Given the description of an element on the screen output the (x, y) to click on. 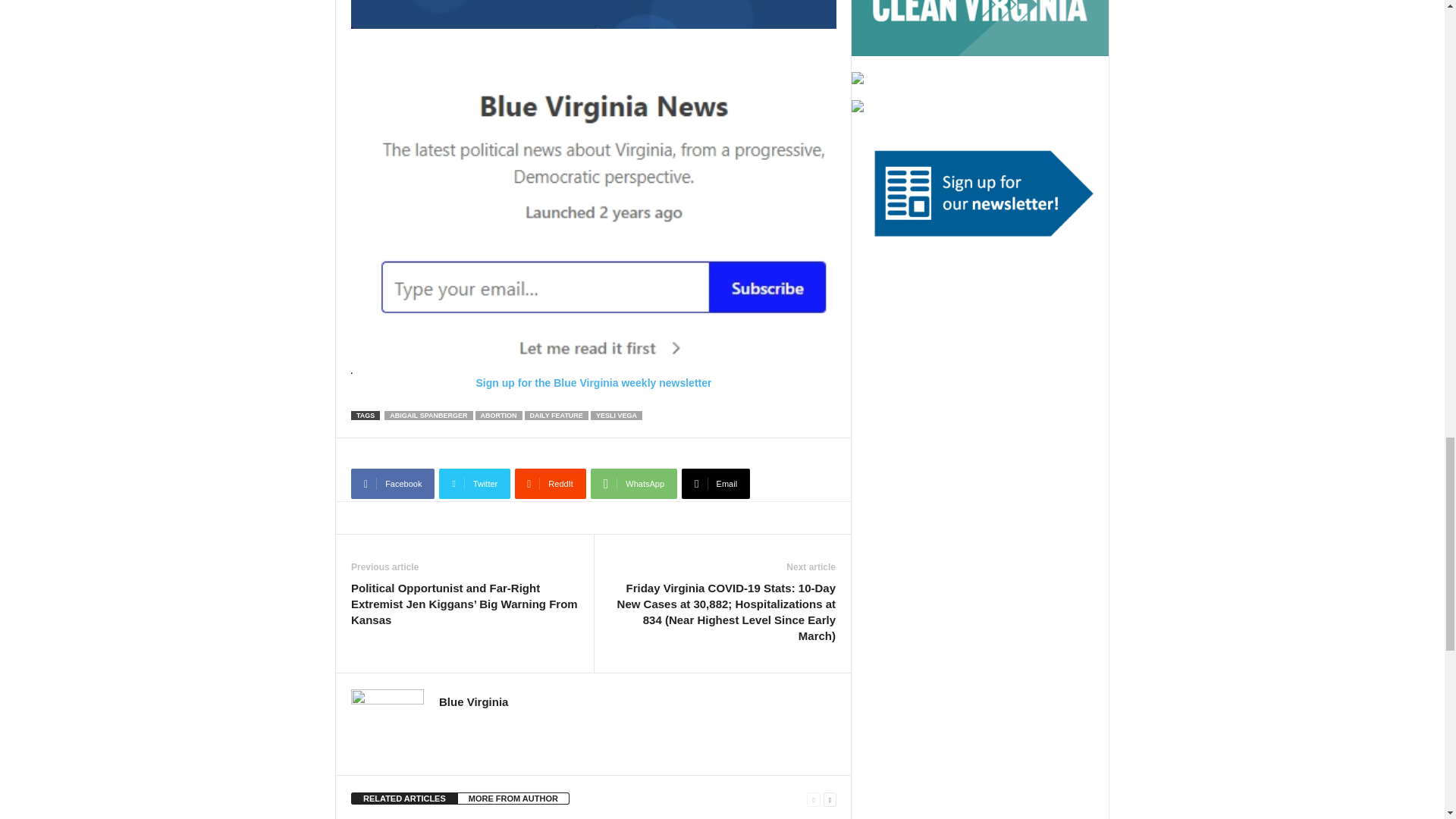
DAILY FEATURE (556, 415)
Facebook (391, 483)
Email (715, 483)
WhatsApp (634, 483)
Twitter (475, 483)
ABIGAIL SPANBERGER (427, 415)
ReddIt (550, 483)
ABORTION (499, 415)
